Given the description of an element on the screen output the (x, y) to click on. 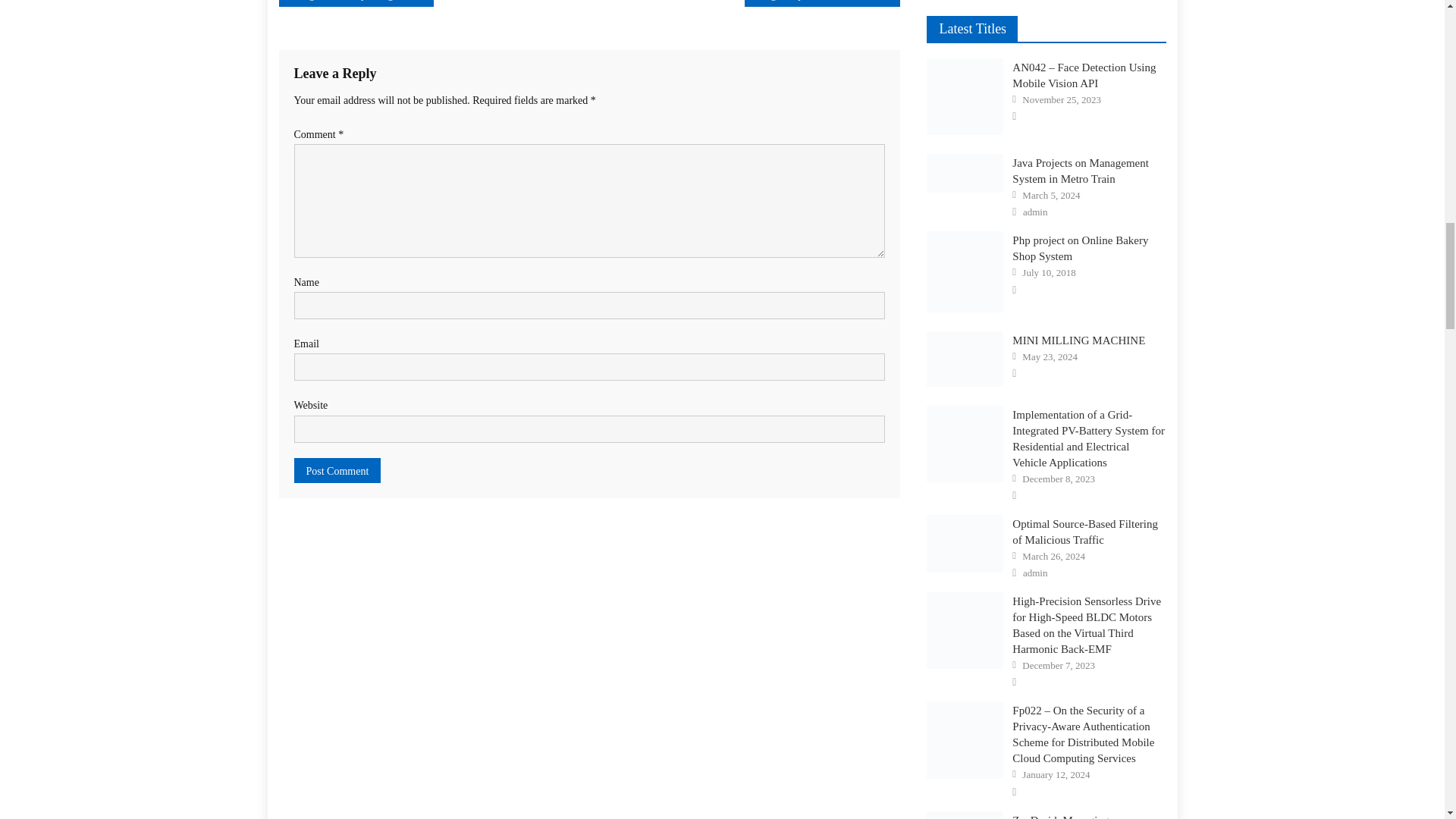
Java Projects on Management System in Metro Train (964, 172)
MINI MILLING MACHINE (964, 358)
Post Comment (337, 470)
Optimal Source-Based Filtering of Malicious Traffic (964, 543)
